Given the description of an element on the screen output the (x, y) to click on. 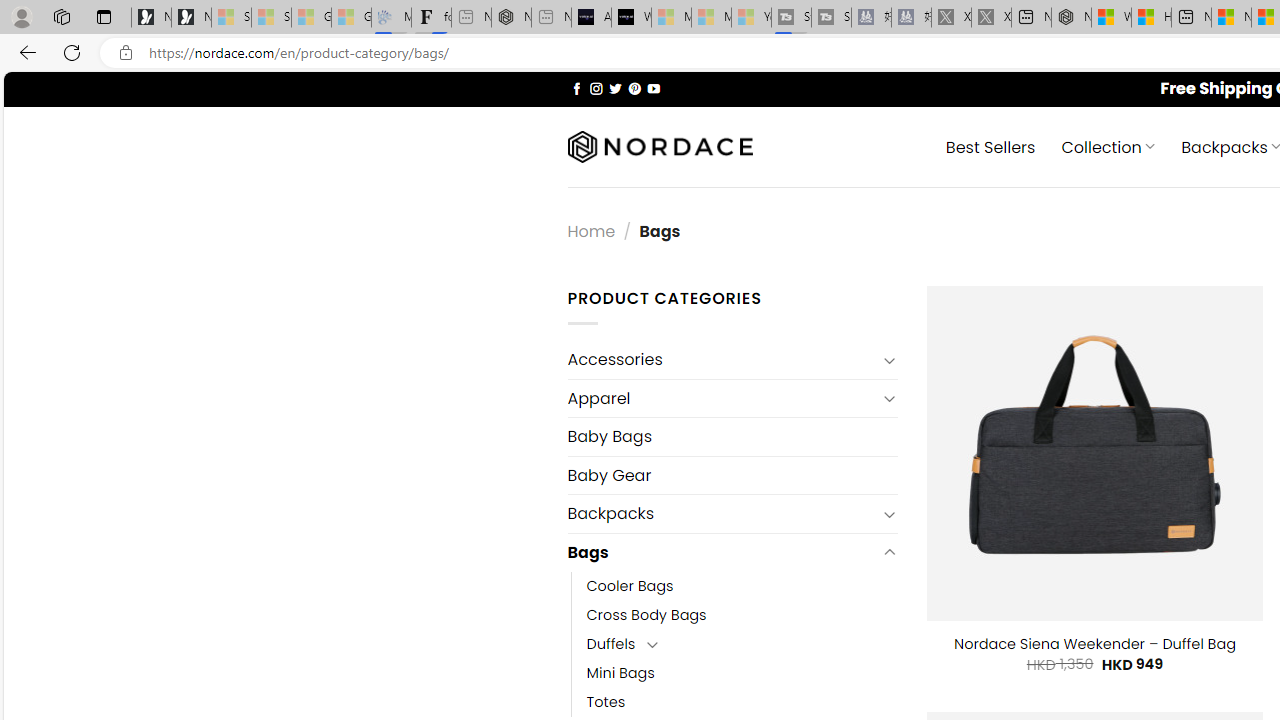
Newsletter Sign Up (191, 17)
 Best Sellers (989, 146)
Backpacks (721, 514)
Mini Bags (620, 673)
Baby Gear (732, 475)
Cooler Bags (630, 585)
Follow on Instagram (596, 88)
New tab - Sleeping (551, 17)
Baby Bags (732, 435)
Nordace (659, 147)
